Given the description of an element on the screen output the (x, y) to click on. 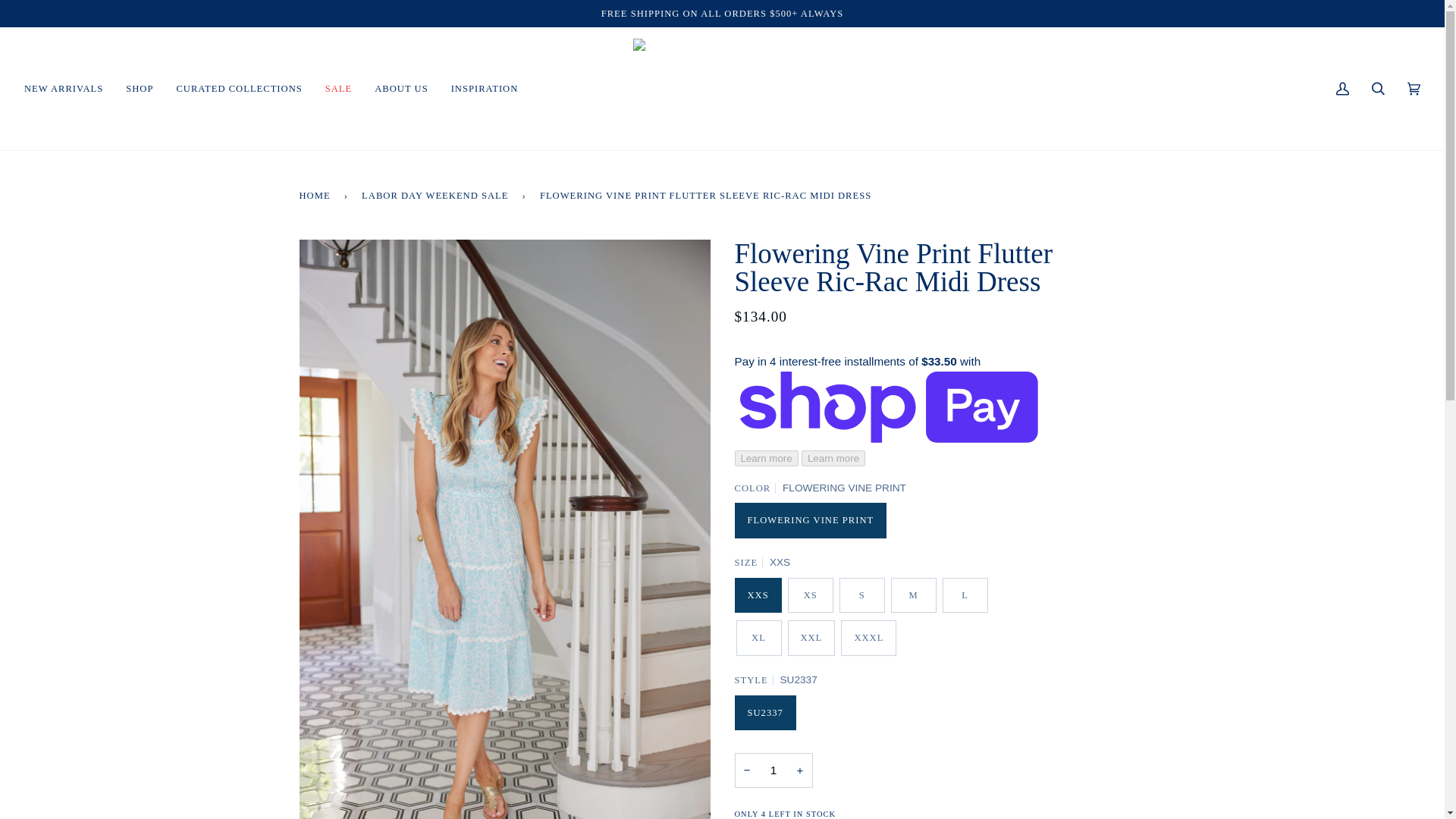
CURATED COLLECTIONS (238, 88)
Back to the frontpage (316, 195)
1 (772, 769)
